Given the description of an element on the screen output the (x, y) to click on. 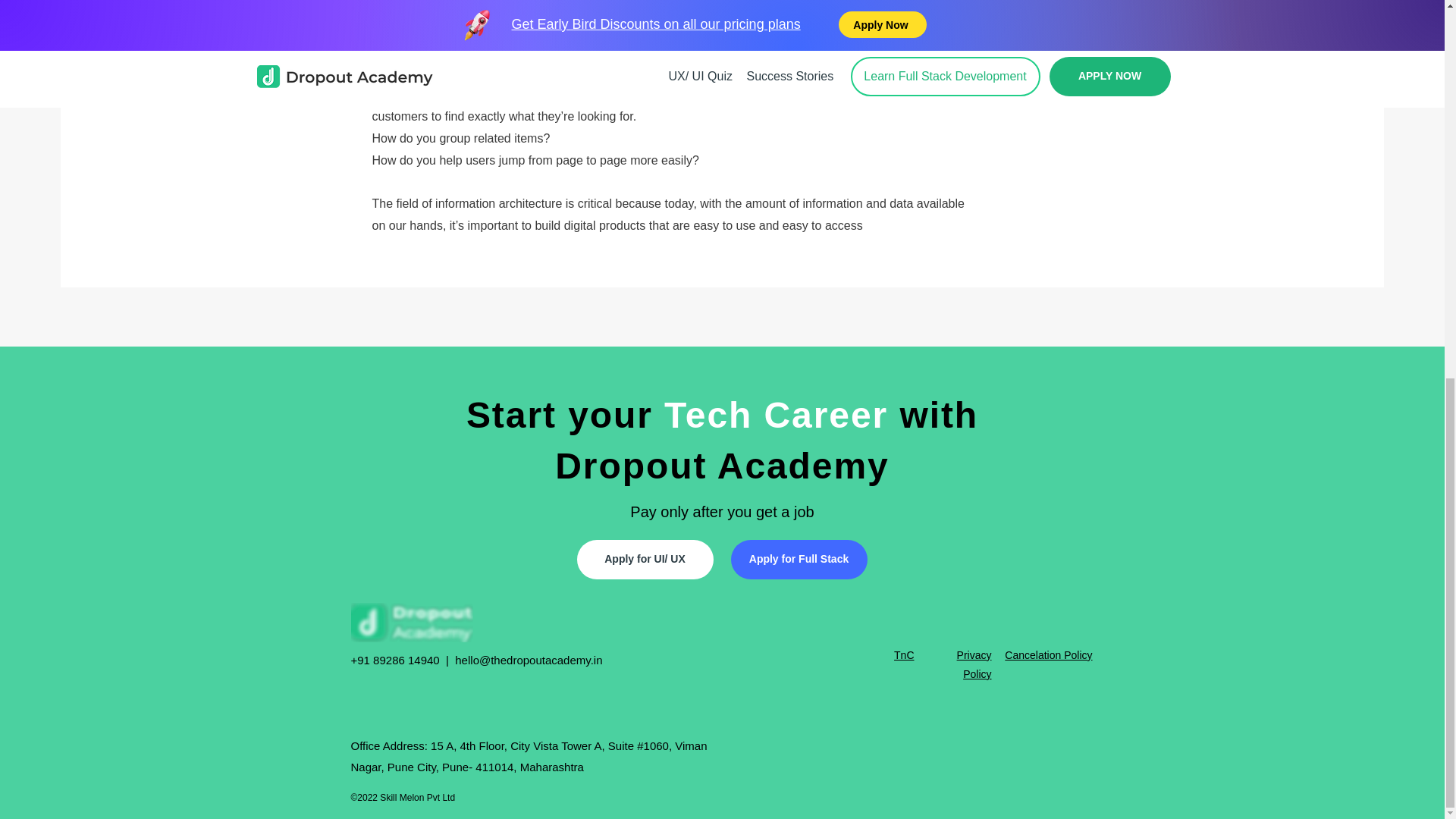
Privacy Policy (973, 664)
Apply for Full Stack (798, 559)
TnC (903, 654)
Cancelation Policy (1048, 654)
